Given the description of an element on the screen output the (x, y) to click on. 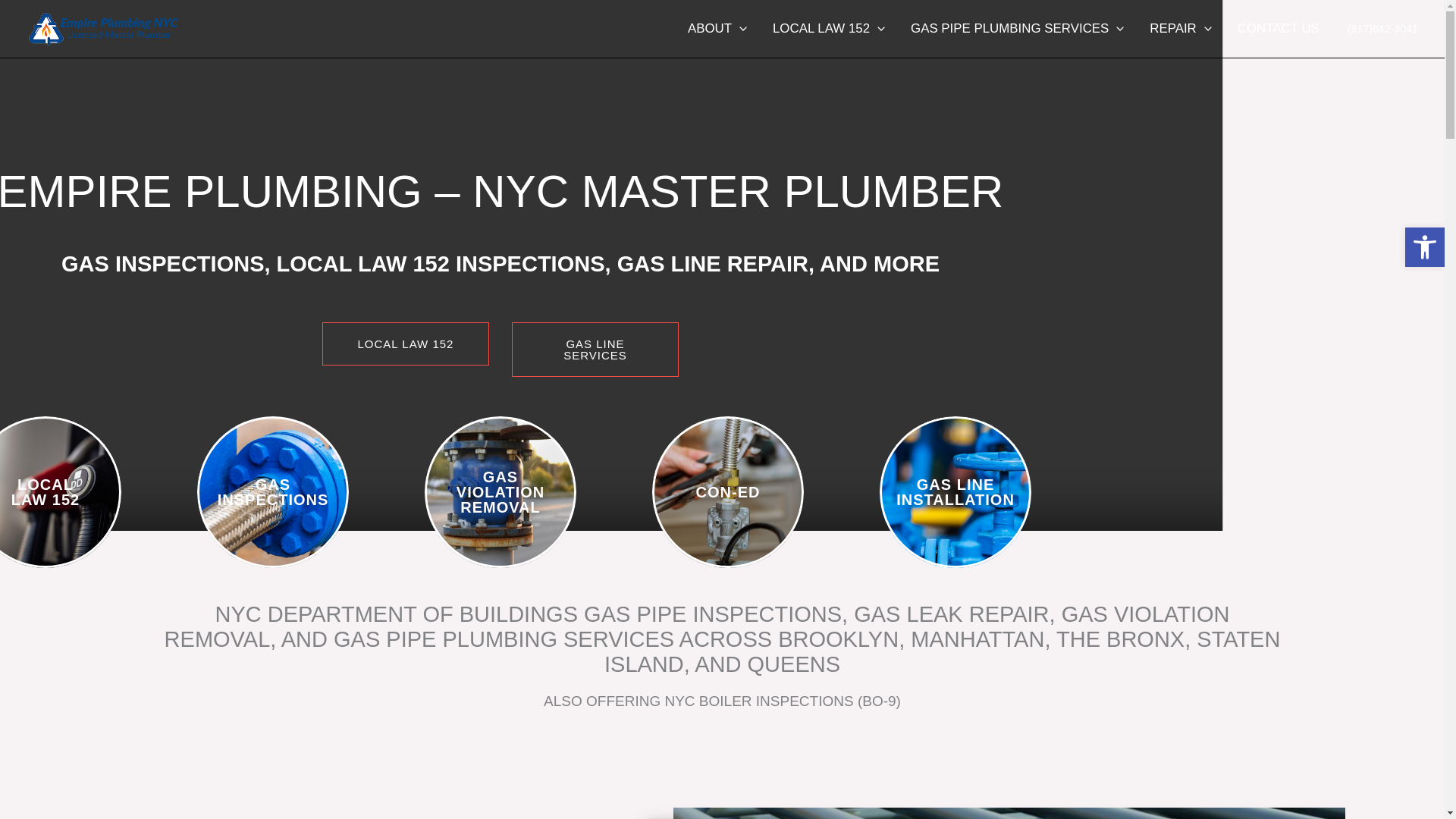
LOCAL LAW 152 (829, 28)
REPAIR (1180, 28)
GAS PIPE PLUMBING SERVICES (1017, 28)
ABOUT (717, 28)
Accessibility Tools (1424, 247)
CONTACT US (1278, 28)
